Given the description of an element on the screen output the (x, y) to click on. 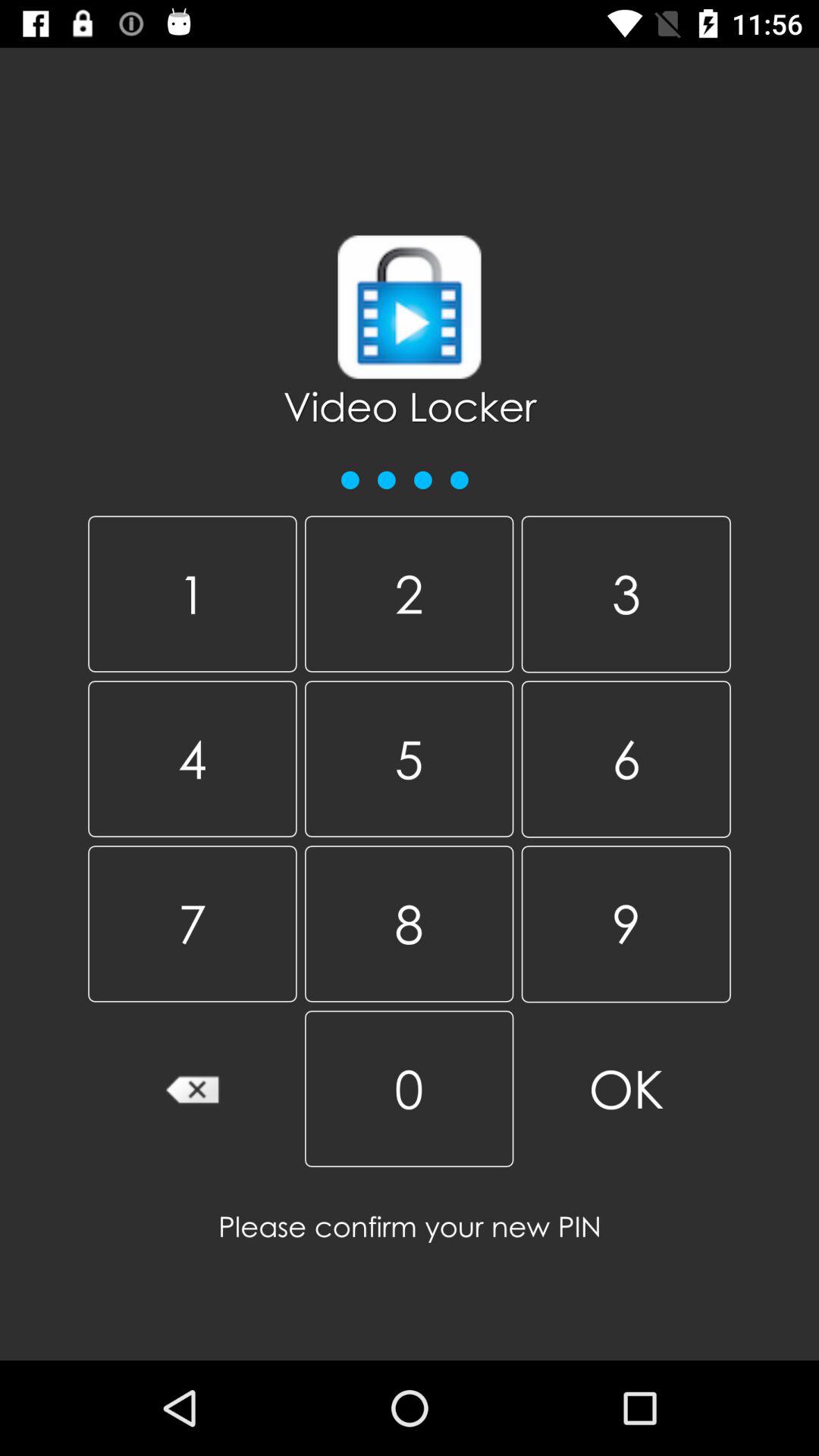
press item to the right of the 1 item (408, 758)
